Given the description of an element on the screen output the (x, y) to click on. 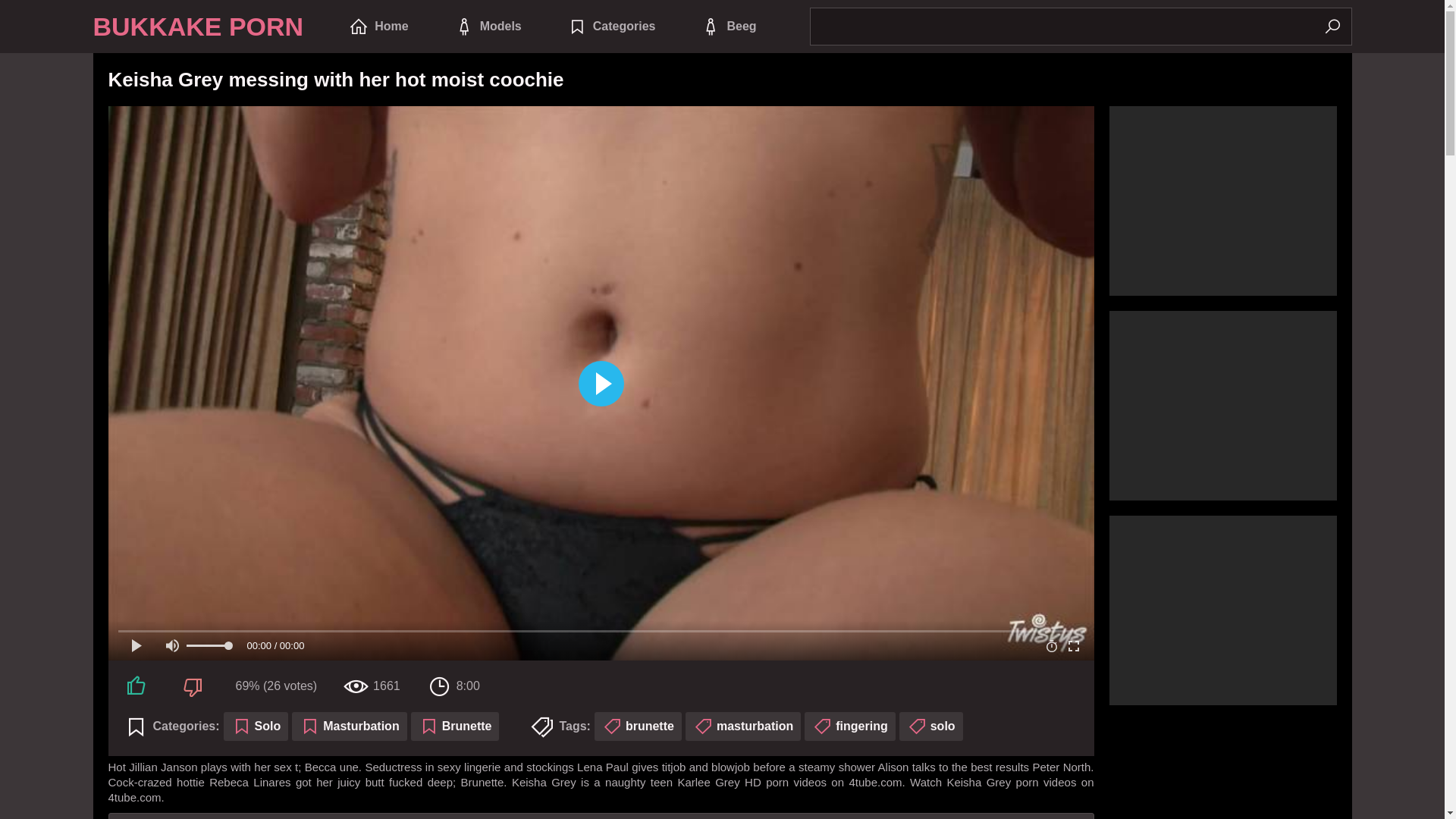
Beeg Element type: text (728, 26)
Dislike! Element type: hover (193, 685)
brunette Element type: text (637, 726)
Models Element type: text (487, 26)
masturbation Element type: text (742, 726)
Masturbation Element type: text (348, 726)
solo Element type: text (931, 726)
Brunette Element type: text (455, 726)
Search Element type: hover (1332, 26)
Like! Element type: hover (137, 685)
Categories Element type: text (611, 26)
Home Element type: text (377, 26)
BUKKAKE PORN Element type: text (197, 26)
Solo Element type: text (255, 726)
fingering Element type: text (849, 726)
